Given the description of an element on the screen output the (x, y) to click on. 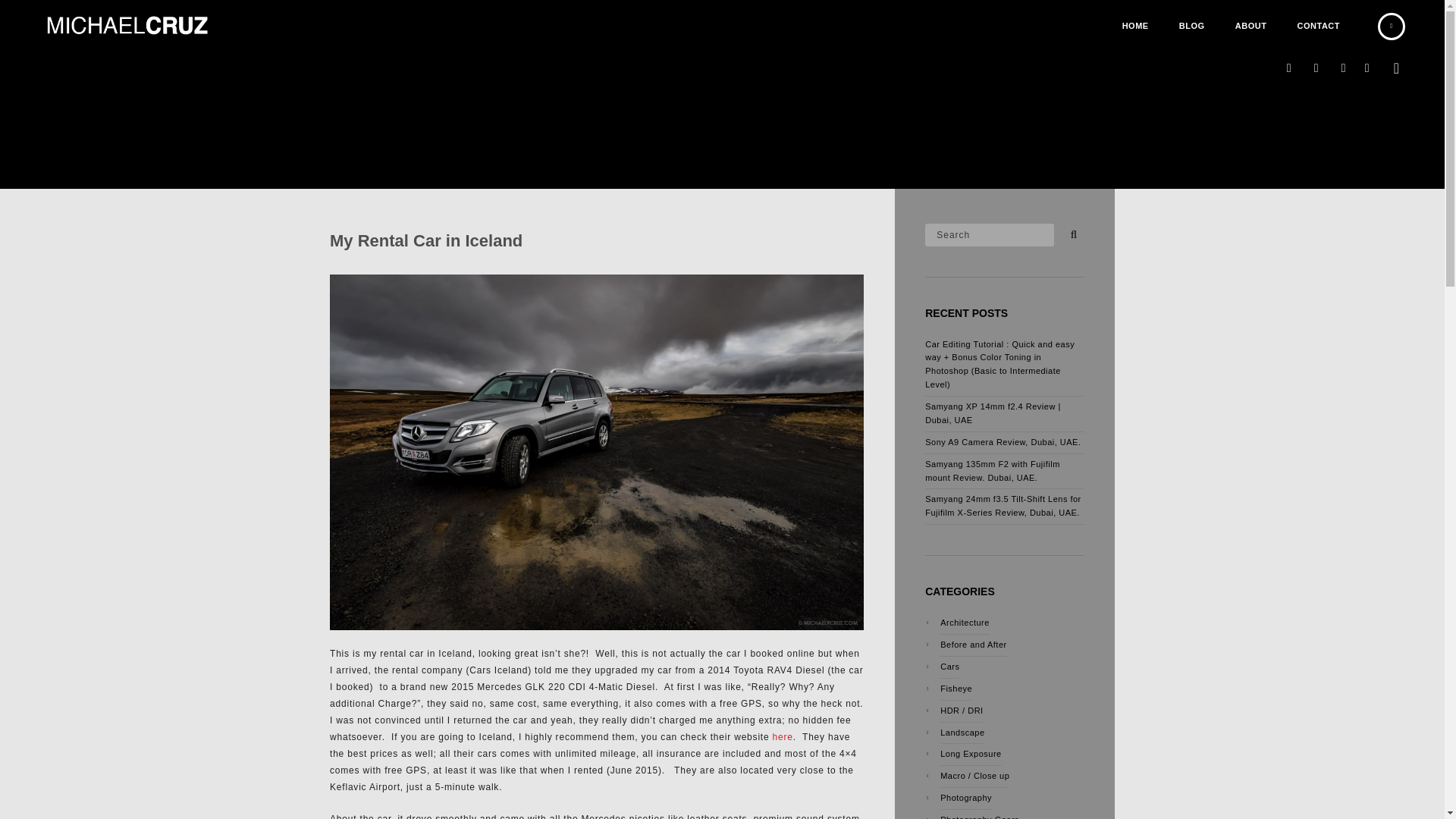
Flickr (1315, 68)
CONTACT (1319, 26)
Search (989, 233)
HOME (1134, 26)
Home Page (1134, 26)
Search (1070, 231)
BLOG (1192, 26)
here (783, 737)
Facebook (1366, 68)
Twitter (1343, 68)
Instagram (1289, 68)
ABOUT (1251, 26)
